Given the description of an element on the screen output the (x, y) to click on. 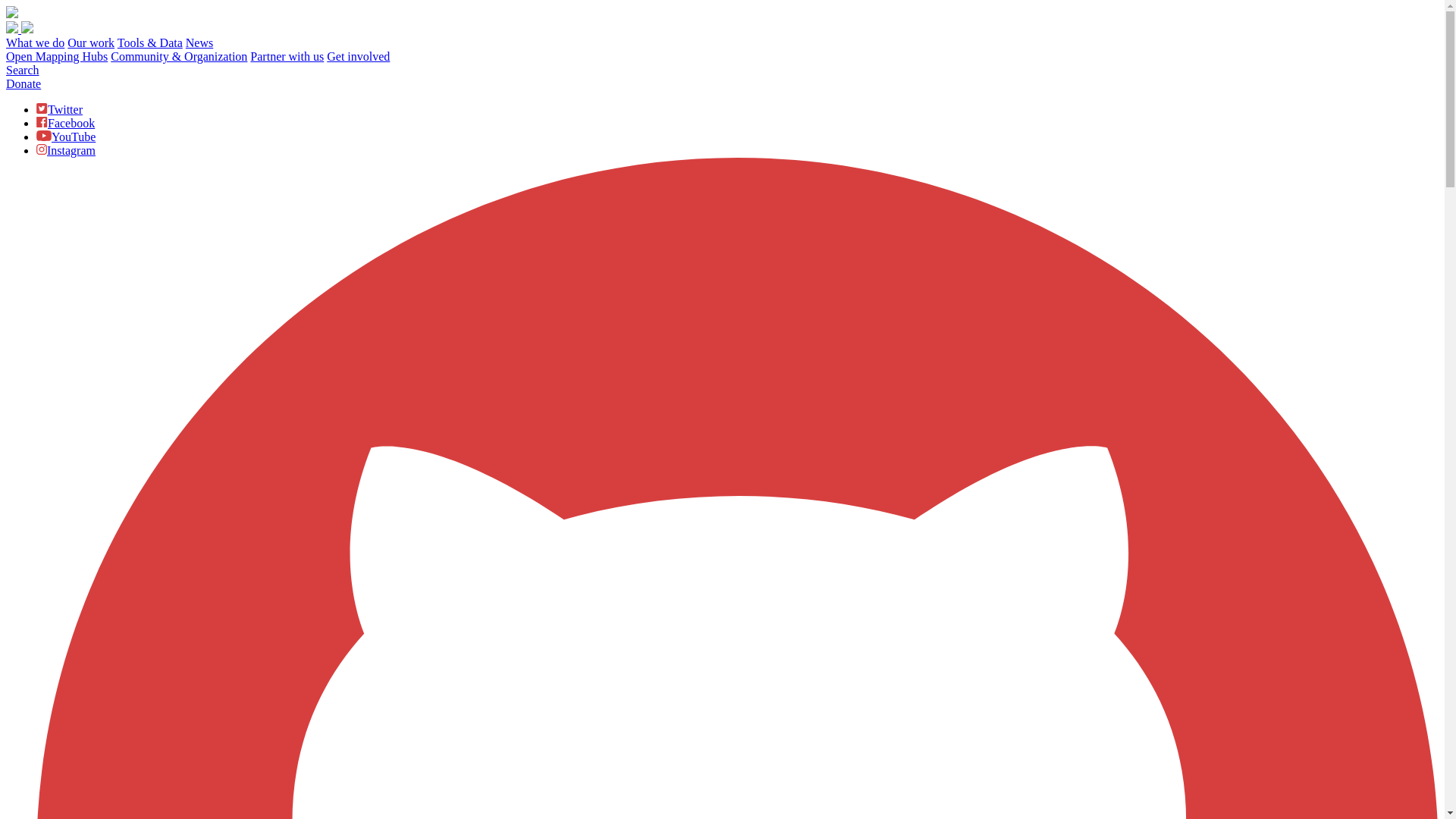
Twitter (59, 109)
What we do (34, 42)
Instagram (66, 150)
Search (22, 69)
YouTube (66, 136)
Facebook (65, 123)
Donate (22, 83)
Open Mapping Hubs (56, 56)
News (199, 42)
Get involved (358, 56)
